Given the description of an element on the screen output the (x, y) to click on. 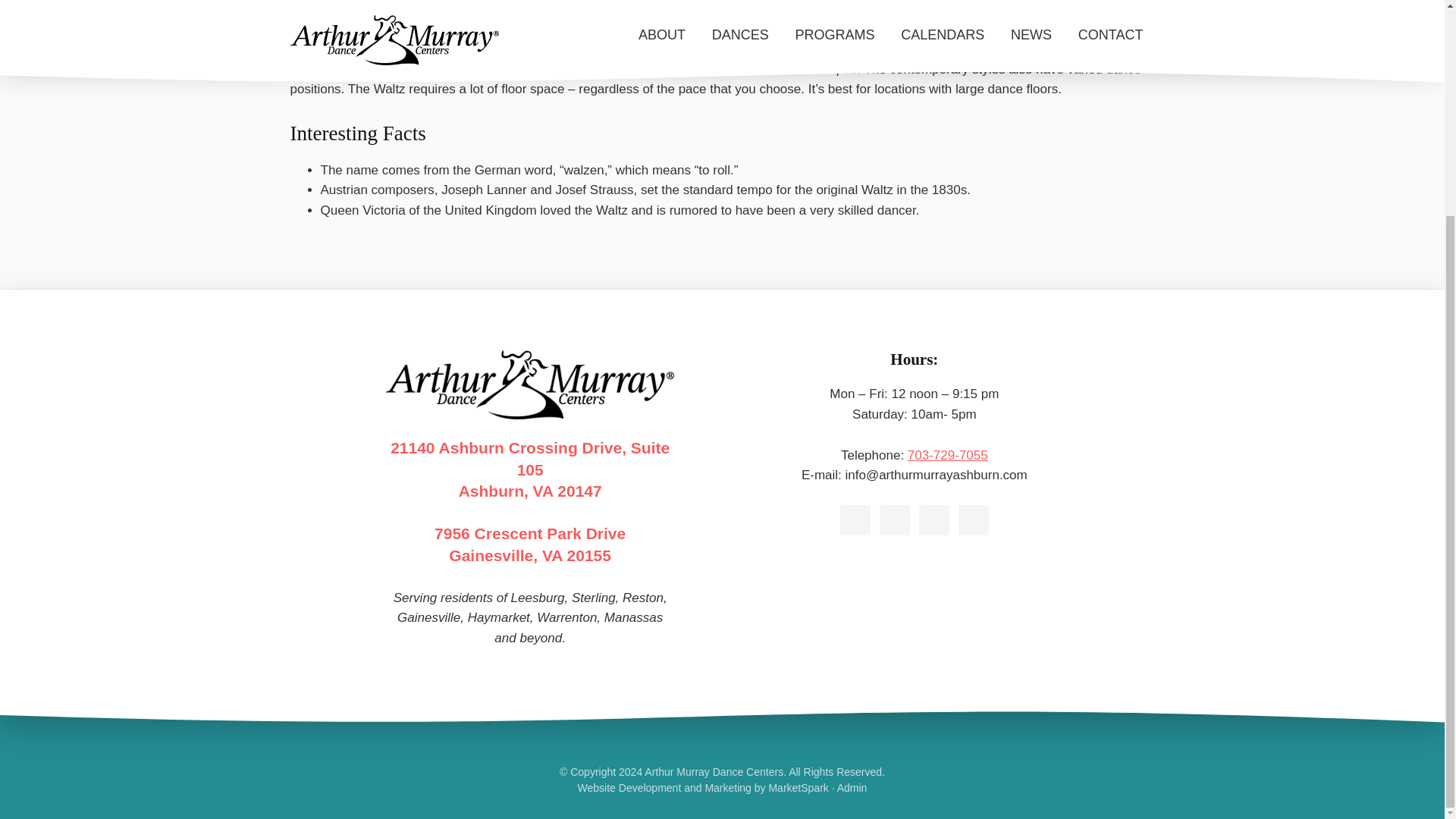
703-729-7055 (947, 454)
Website Development and Marketing by MarketSpark (529, 545)
